Given the description of an element on the screen output the (x, y) to click on. 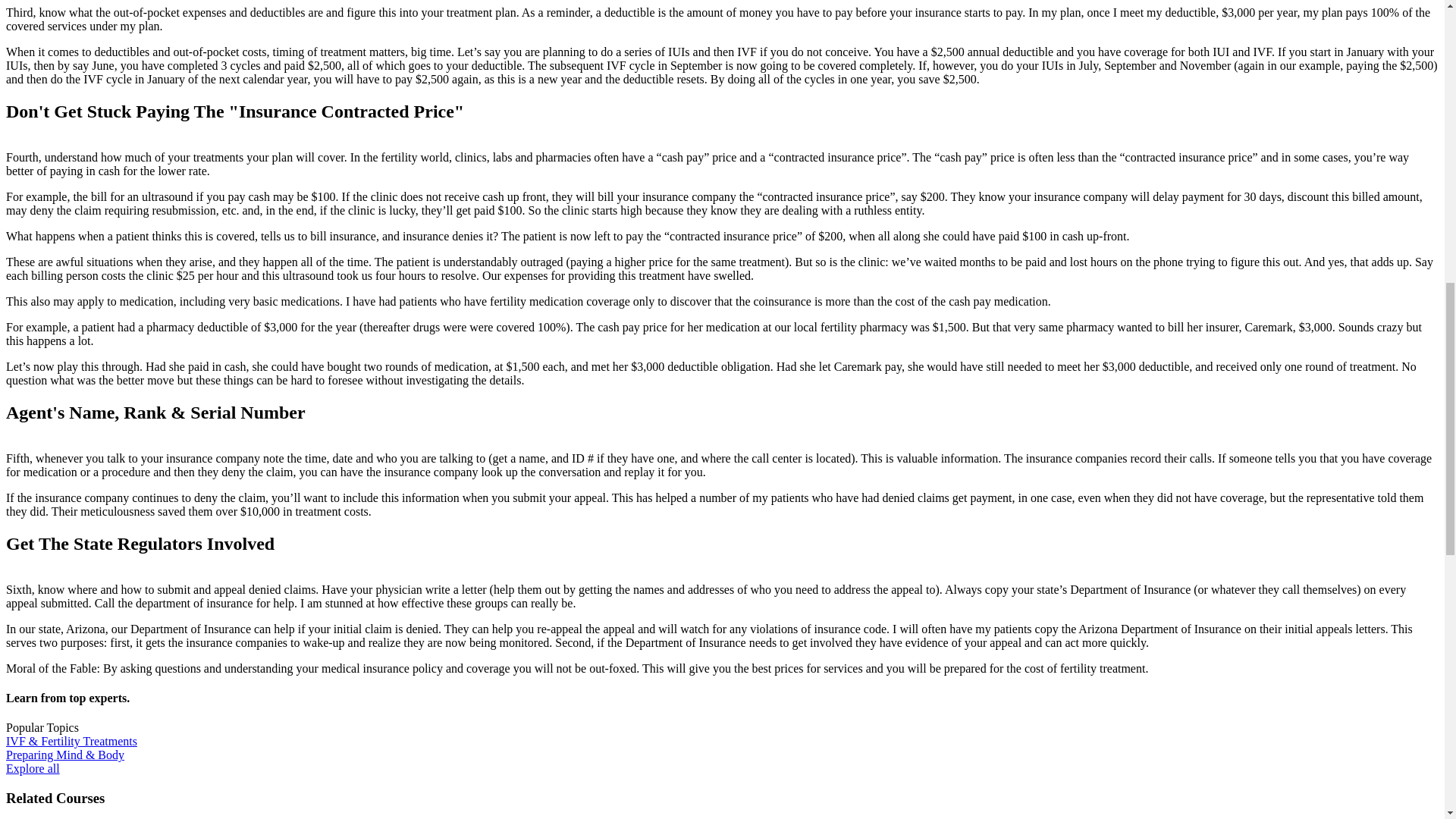
Explore all (32, 768)
